Given the description of an element on the screen output the (x, y) to click on. 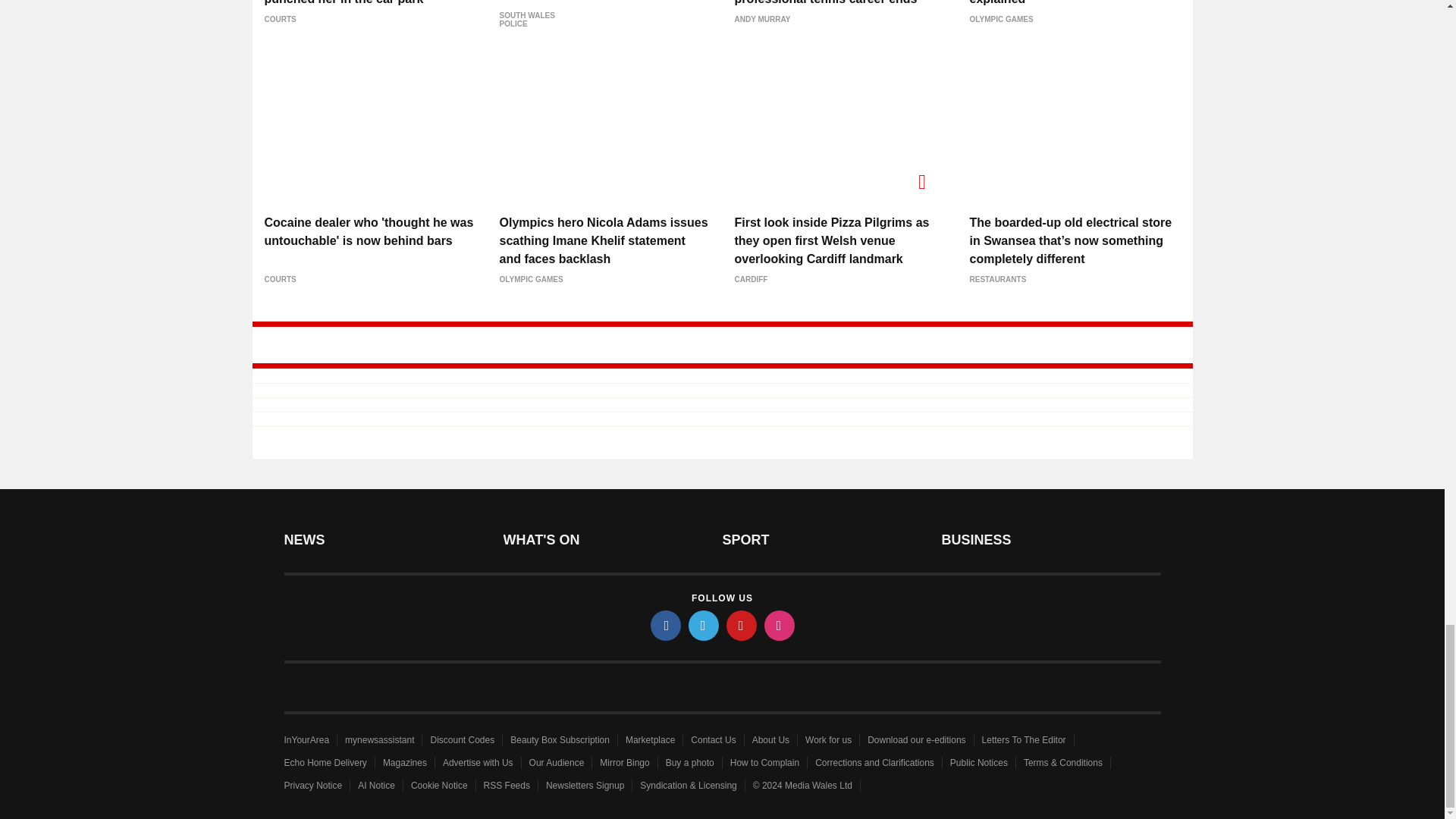
facebook (665, 625)
pinterest (741, 625)
instagram (779, 625)
twitter (703, 625)
